Given the description of an element on the screen output the (x, y) to click on. 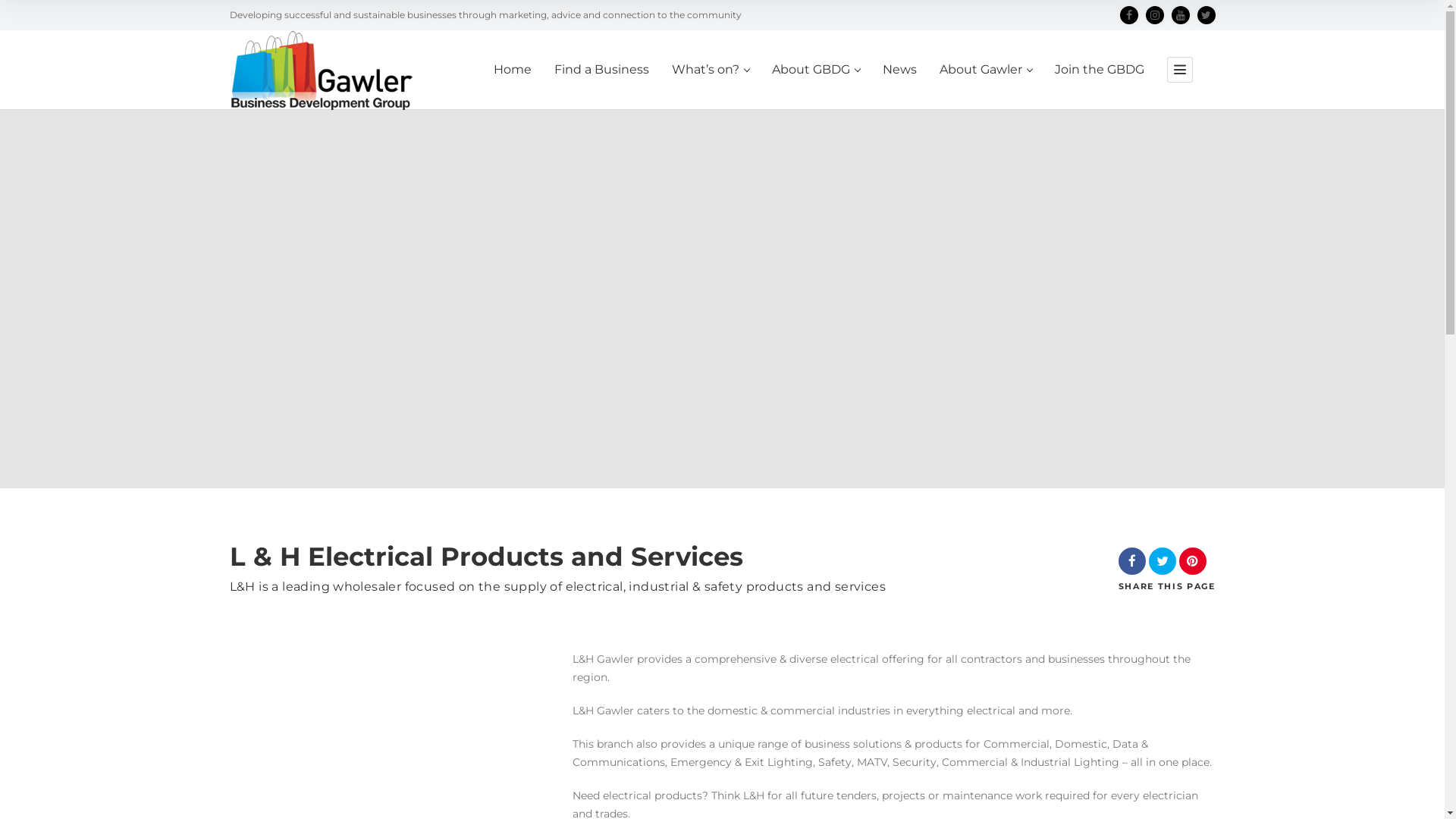
Gawler Business Development Group Element type: hover (320, 69)
Join the GBDG Element type: text (1098, 85)
News Element type: text (899, 85)
About Gawler Element type: text (984, 85)
Home Element type: text (511, 85)
About GBDG Element type: text (815, 85)
Find a Business Element type: text (600, 85)
